Given the description of an element on the screen output the (x, y) to click on. 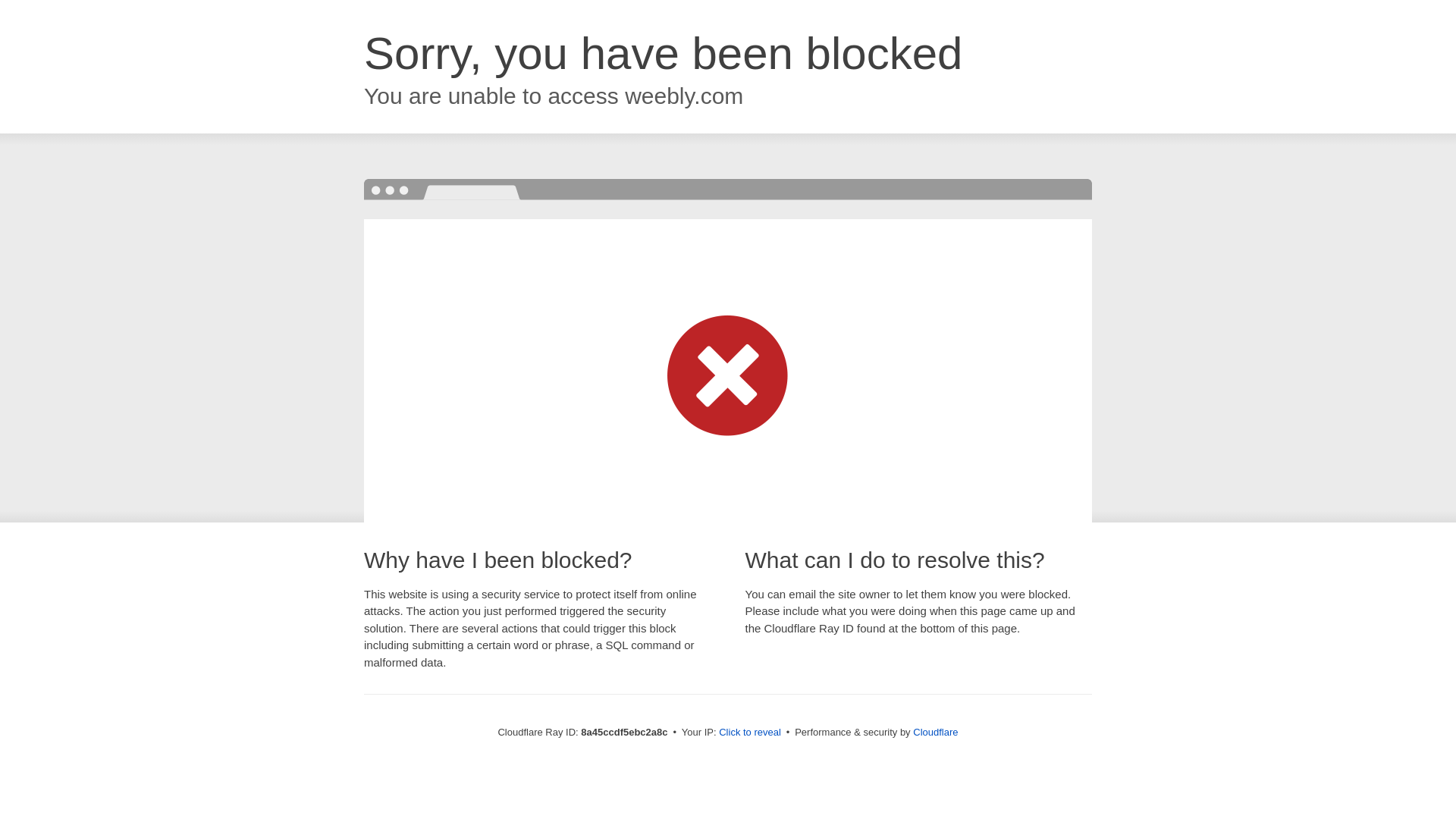
Cloudflare (935, 731)
Click to reveal (749, 732)
